Given the description of an element on the screen output the (x, y) to click on. 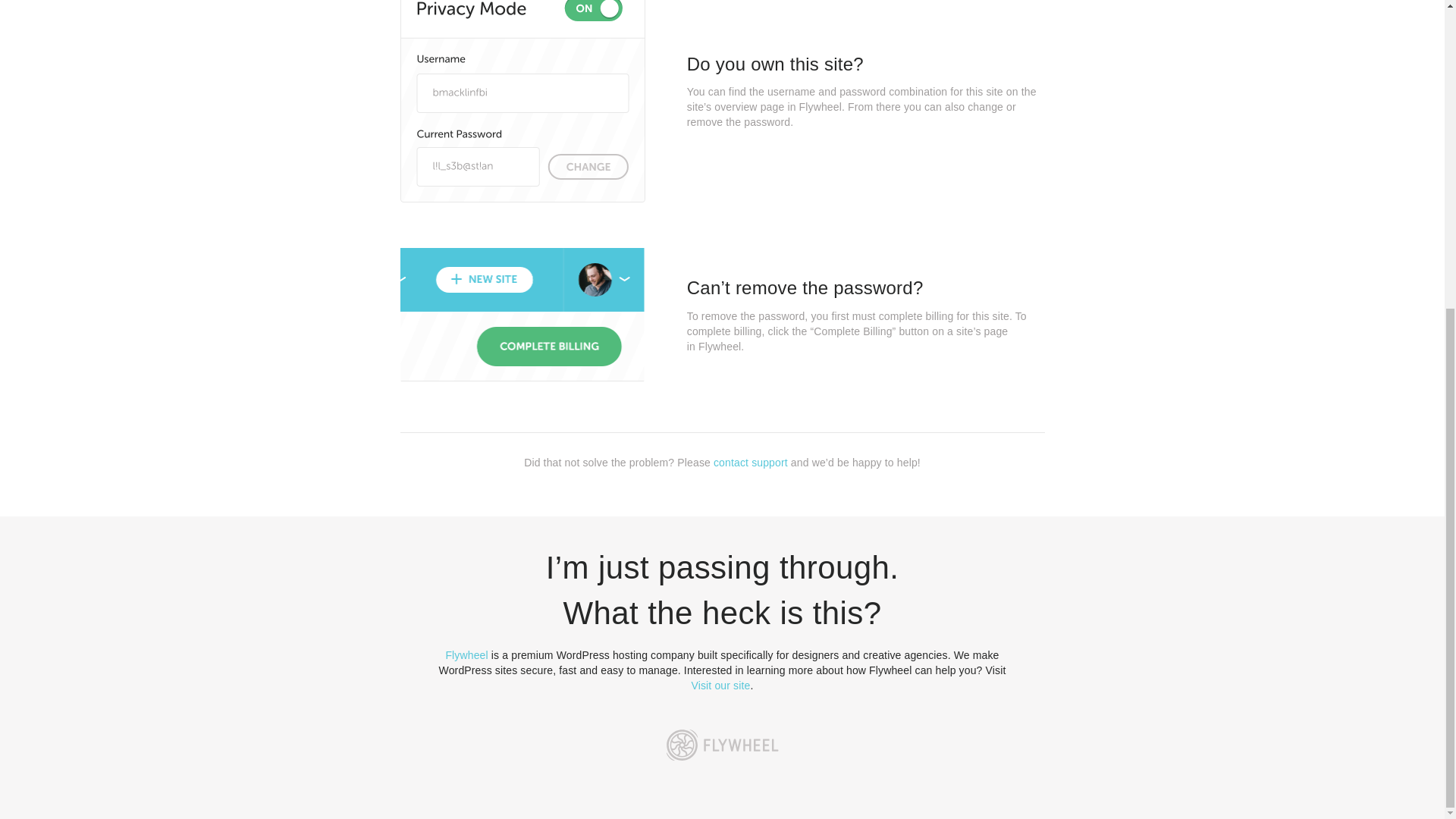
contact support (750, 462)
Visit our site (721, 685)
Flywheel (466, 654)
